Given the description of an element on the screen output the (x, y) to click on. 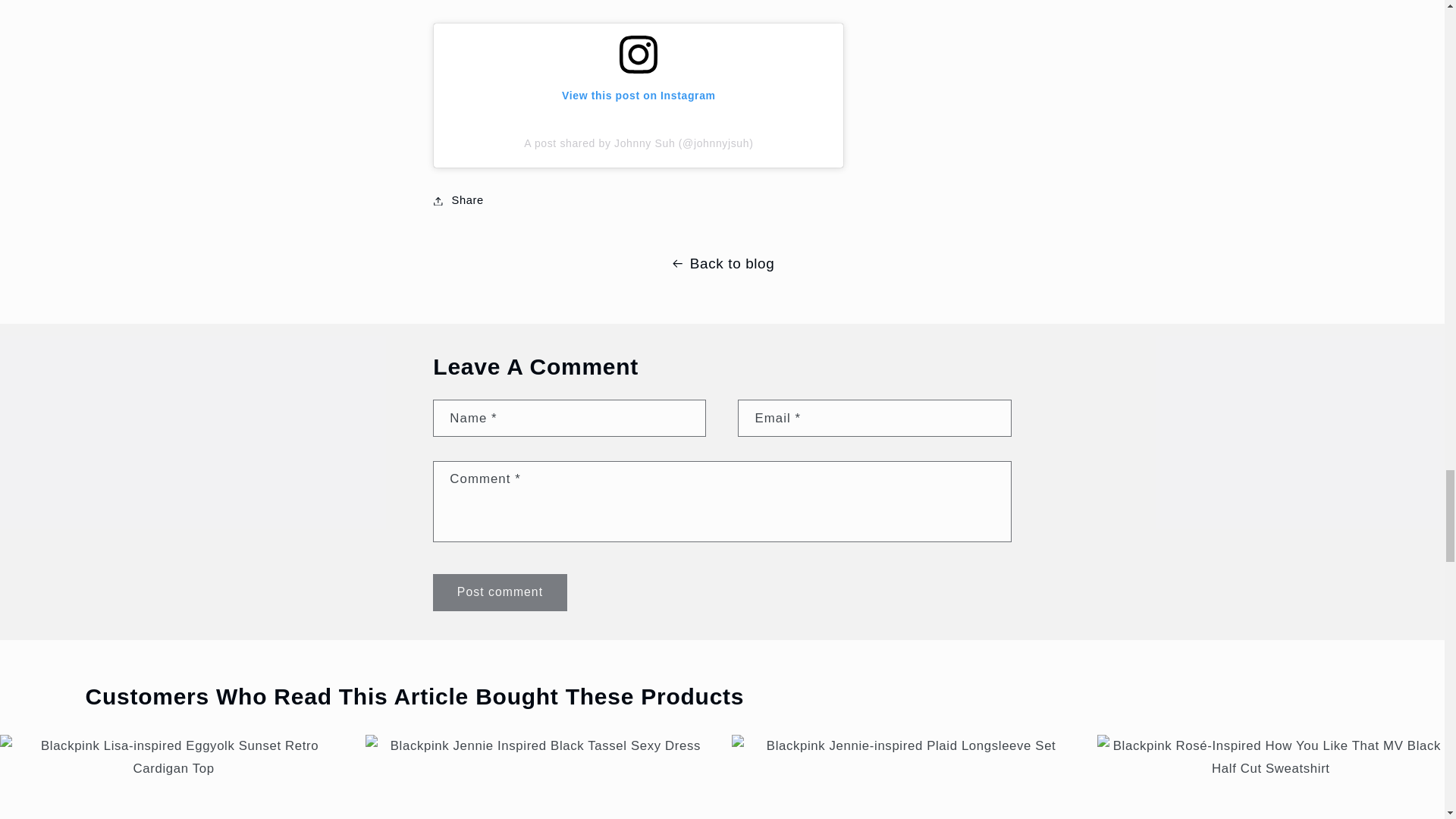
Post comment (499, 592)
